Given the description of an element on the screen output the (x, y) to click on. 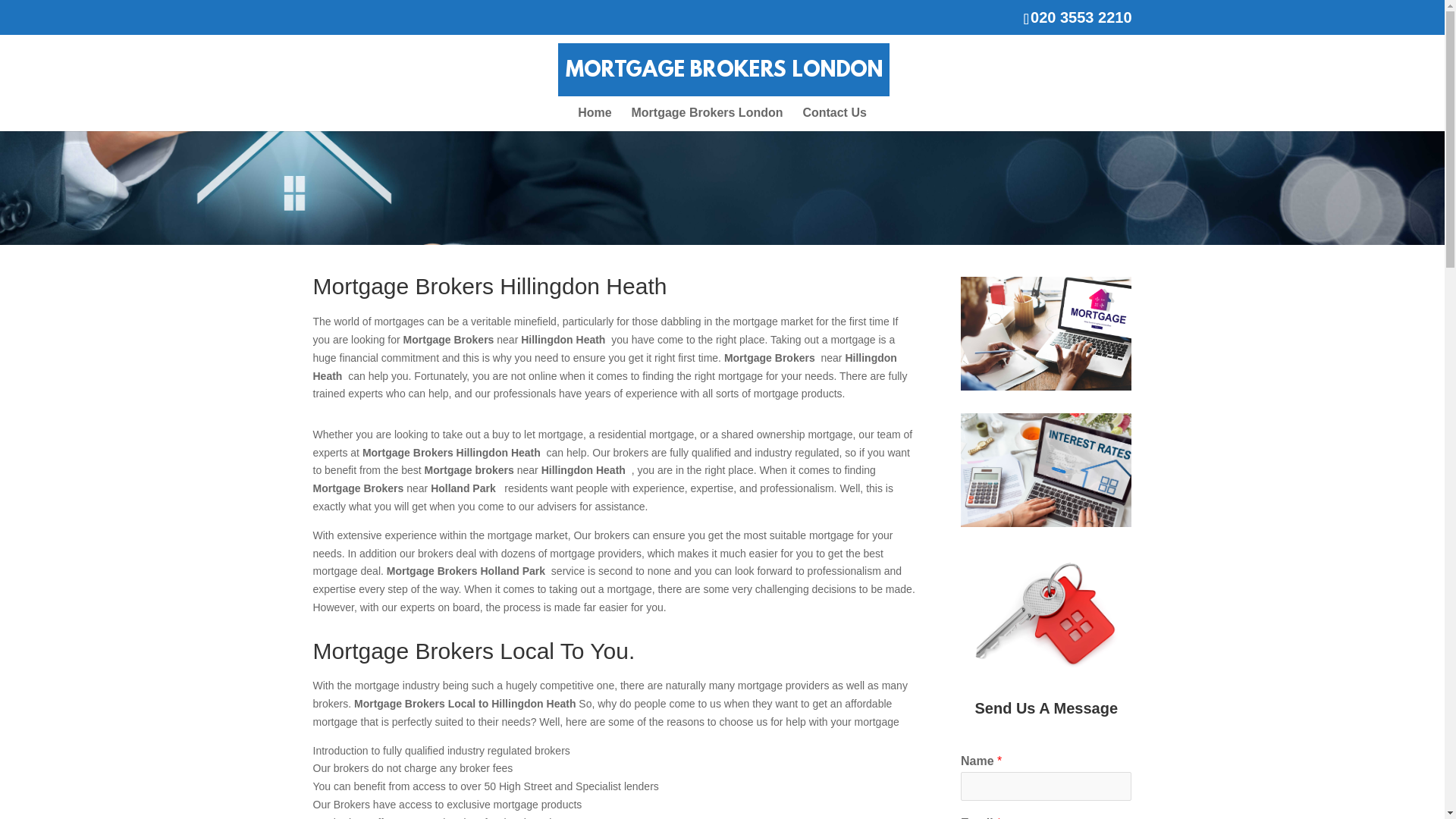
Home (594, 119)
Mortgage Brokers London (706, 119)
Contact Us (834, 119)
